Given the description of an element on the screen output the (x, y) to click on. 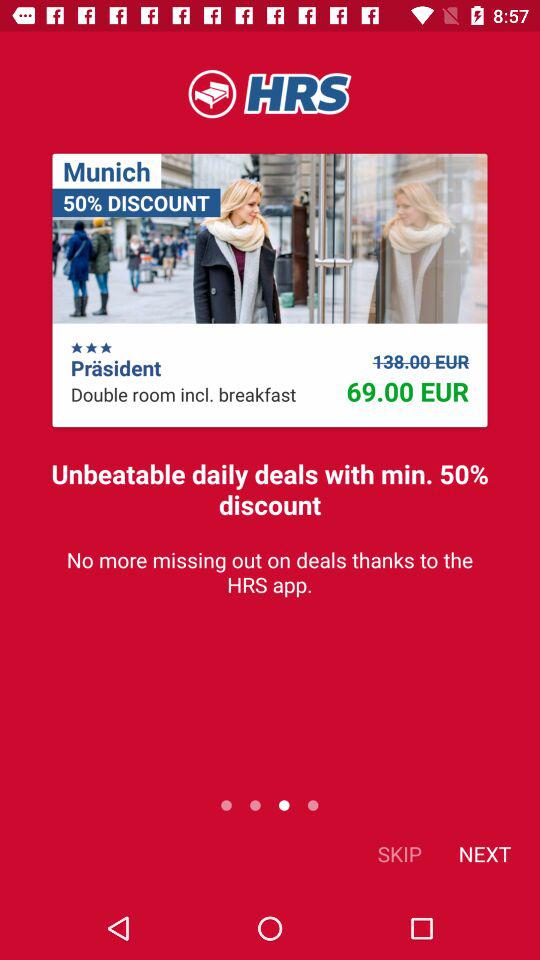
press item below no more missing (484, 853)
